Given the description of an element on the screen output the (x, y) to click on. 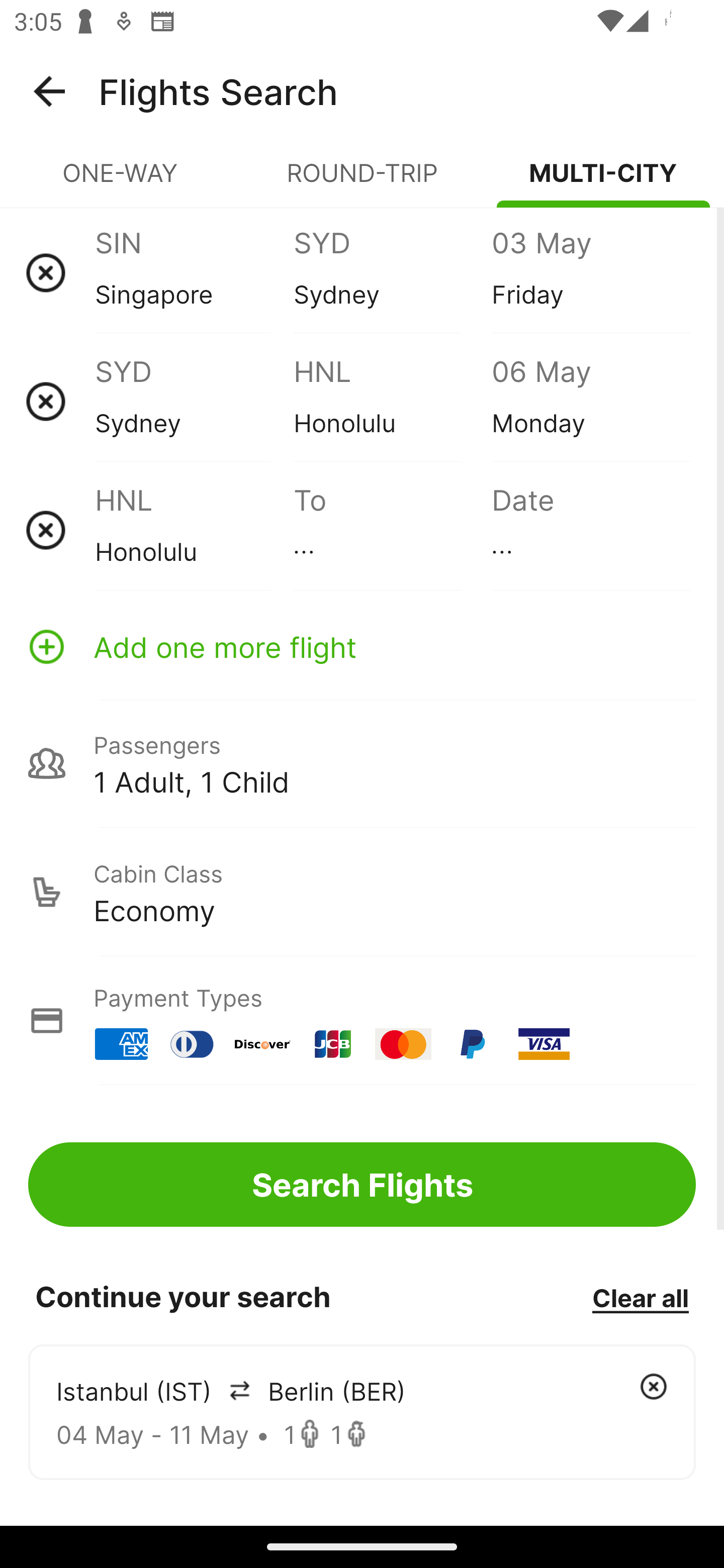
ONE-WAY (120, 180)
ROUND-TRIP (361, 180)
MULTI-CITY (603, 180)
SIN Singapore (193, 272)
SYD Sydney (392, 272)
03 May Friday (590, 272)
SYD Sydney (193, 401)
HNL Honolulu (392, 401)
06 May Monday (590, 401)
HNL Honolulu (193, 529)
To ⋯ (392, 529)
Date ⋯ (590, 529)
Add one more flight (362, 646)
Passengers 1 Adult, 1 Child (362, 762)
Cabin Class Economy (362, 891)
Payment Types (362, 1020)
Search Flights (361, 1184)
Clear all (640, 1297)
